Given the description of an element on the screen output the (x, y) to click on. 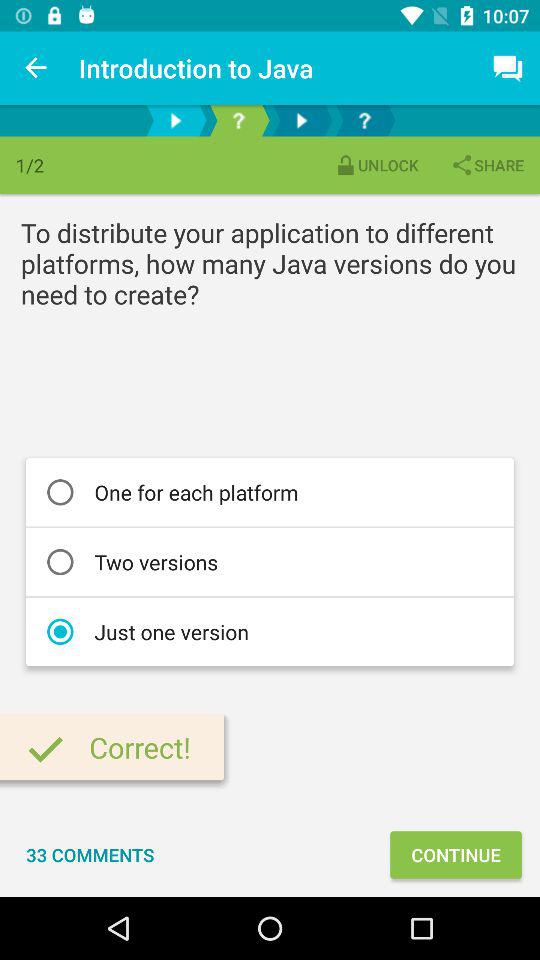
launch item at the bottom right corner (455, 854)
